Given the description of an element on the screen output the (x, y) to click on. 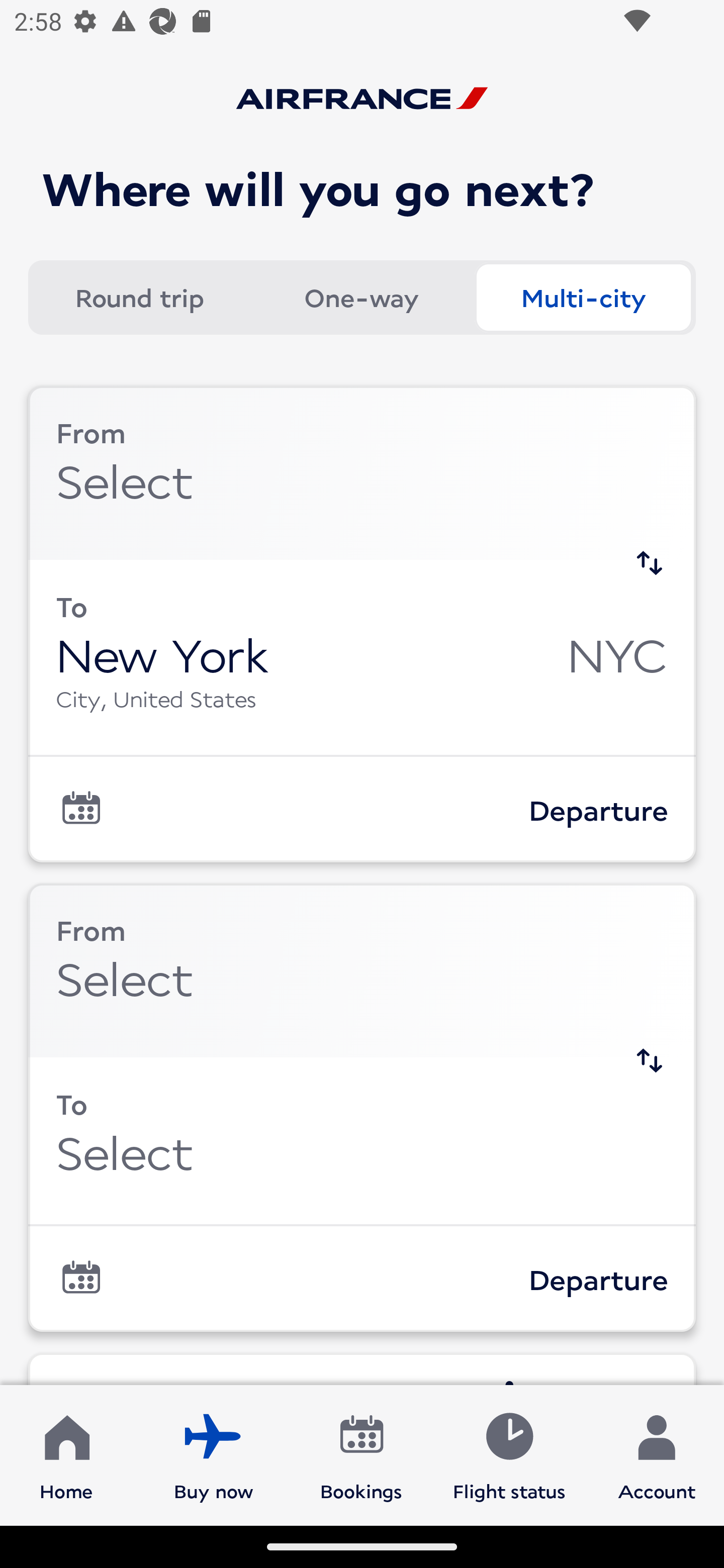
Round trip (139, 297)
One-way (361, 297)
Multi-city (583, 297)
From Select (361, 472)
To New York NYC City, United States (361, 656)
Departure (361, 809)
From Select (361, 969)
To Select (361, 1140)
Departure (361, 1278)
Home (66, 1454)
Bookings (361, 1454)
Flight status (509, 1454)
Account (657, 1454)
